Given the description of an element on the screen output the (x, y) to click on. 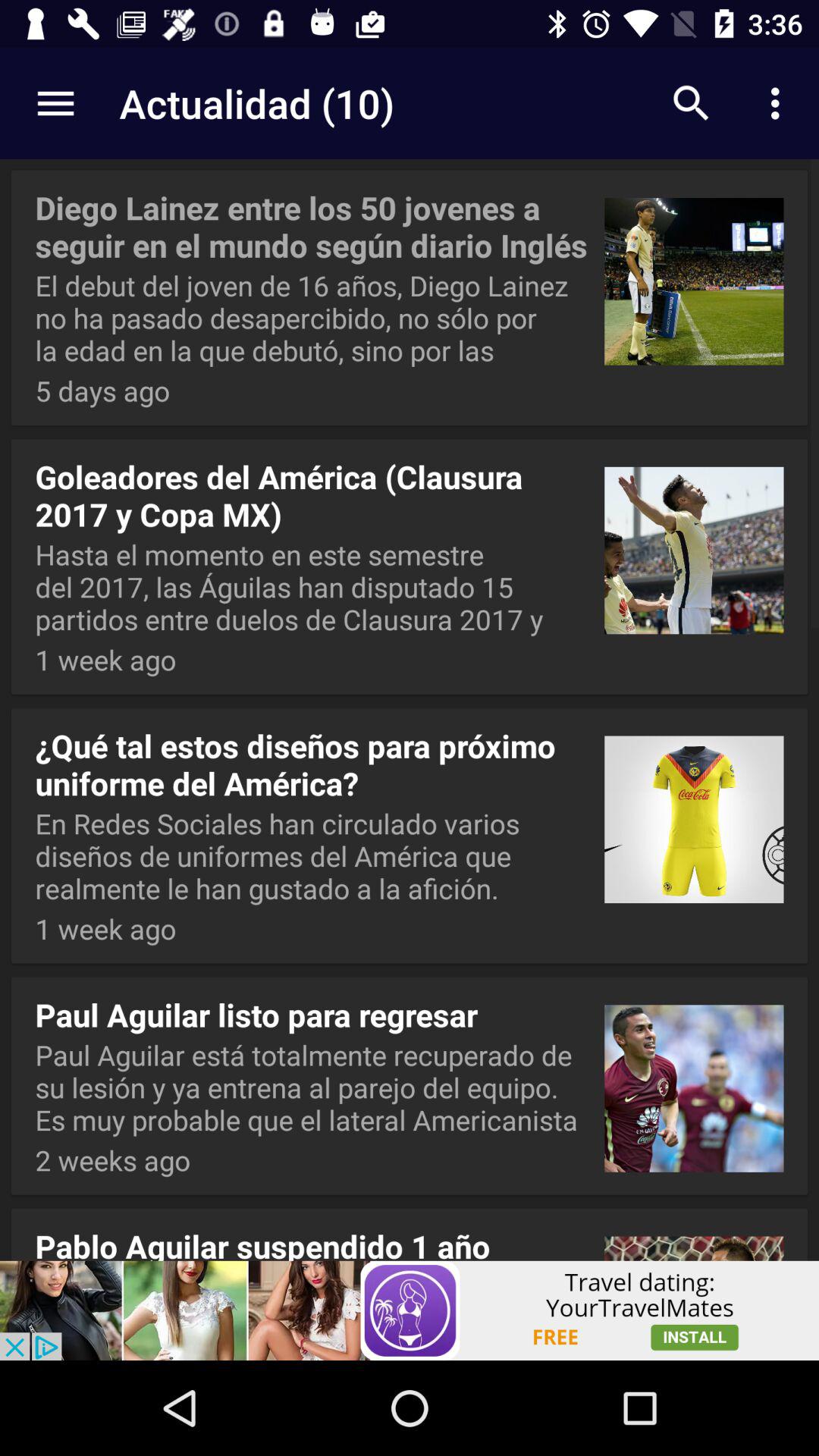
click on the third image (693, 812)
select the second image of the page (693, 543)
click on the button beside search icon (779, 103)
click on the last feed above advertisement of the page (409, 1231)
